Given the description of an element on the screen output the (x, y) to click on. 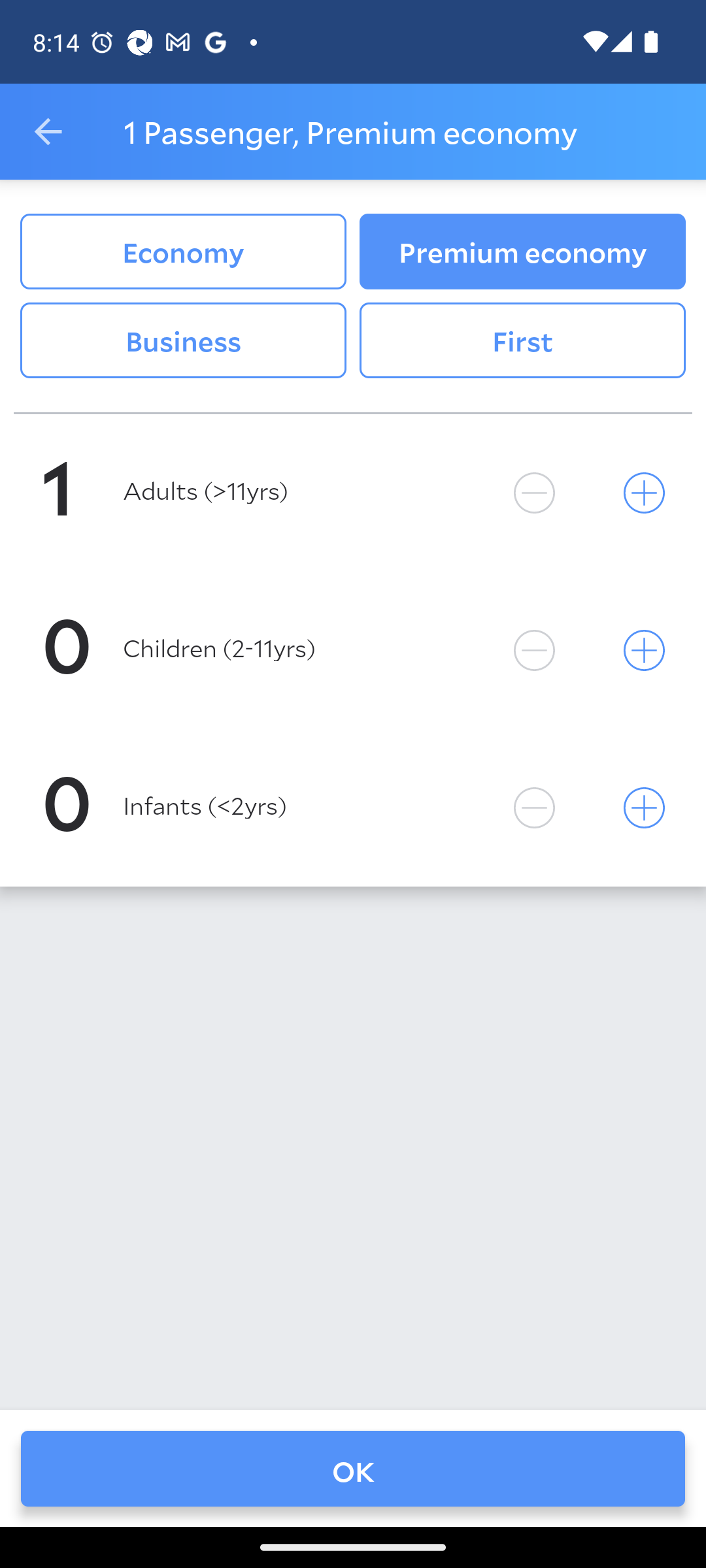
Navigate up (48, 131)
Economy (183, 251)
Premium economy (522, 251)
Business (183, 339)
First (522, 339)
OK (352, 1468)
